Given the description of an element on the screen output the (x, y) to click on. 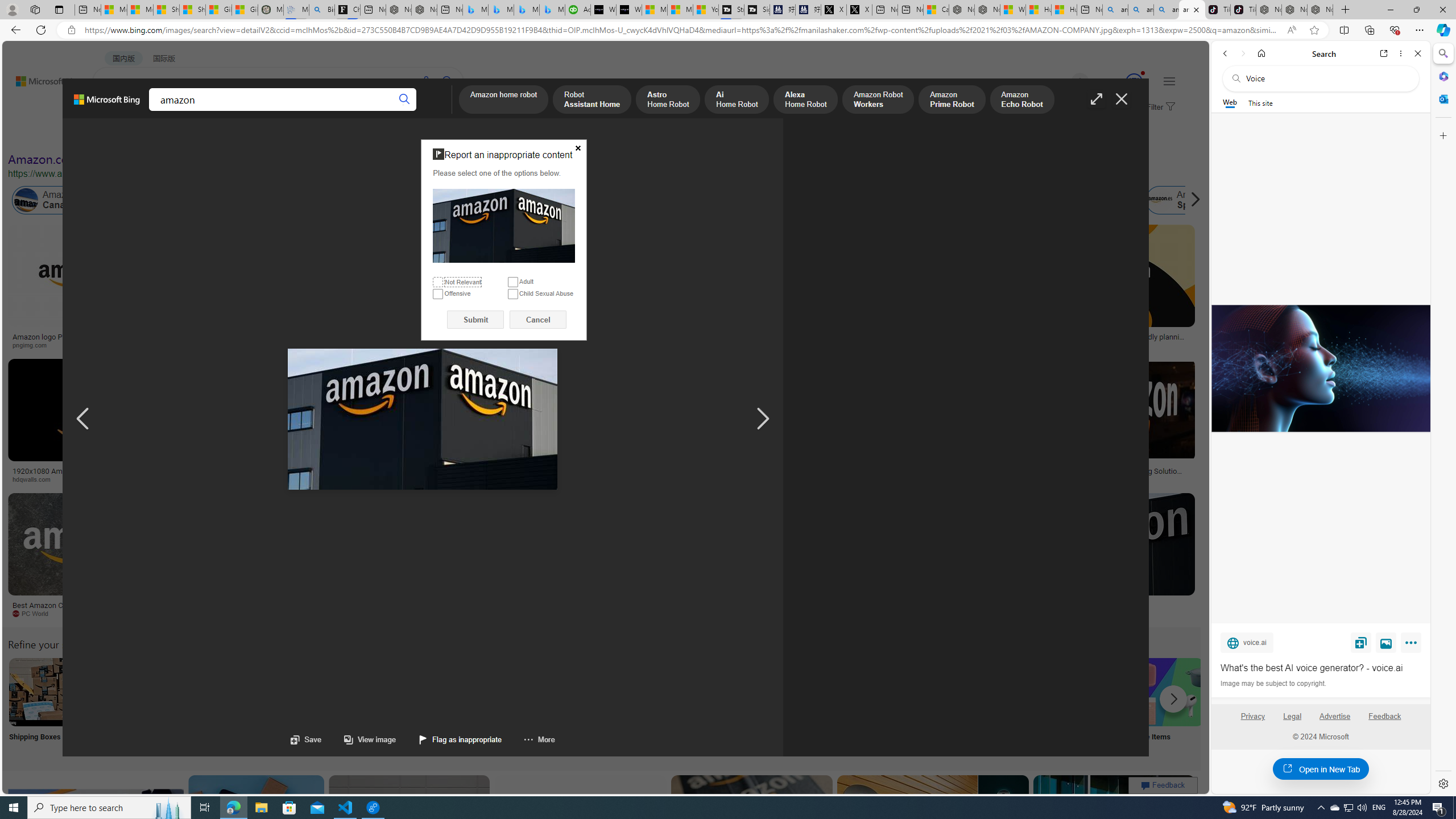
Outlook (1442, 98)
hdqwalls.com (35, 479)
